Given the description of an element on the screen output the (x, y) to click on. 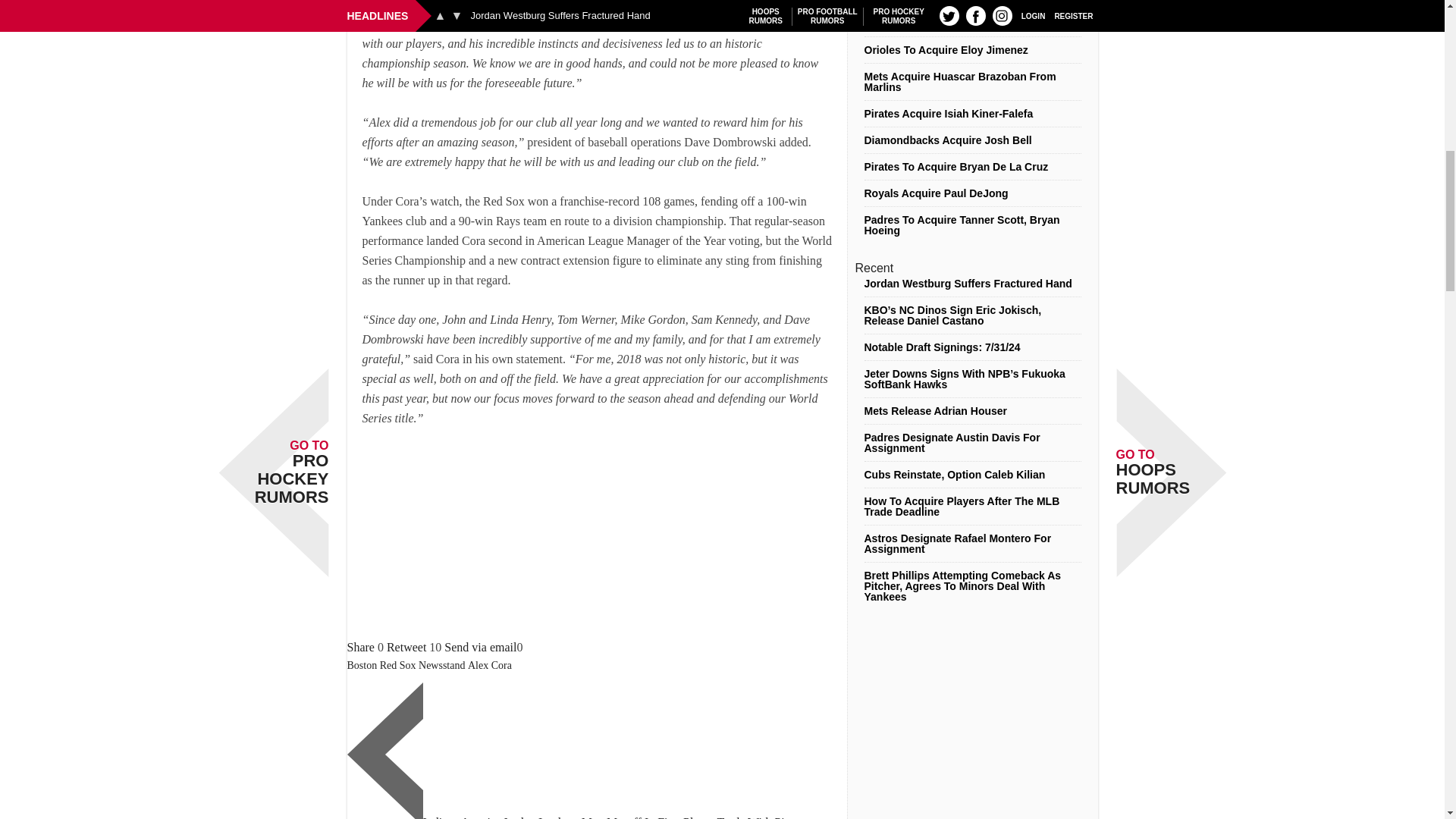
Send Red Sox Announce Extension With Alex Cora with an email (480, 646)
